Given the description of an element on the screen output the (x, y) to click on. 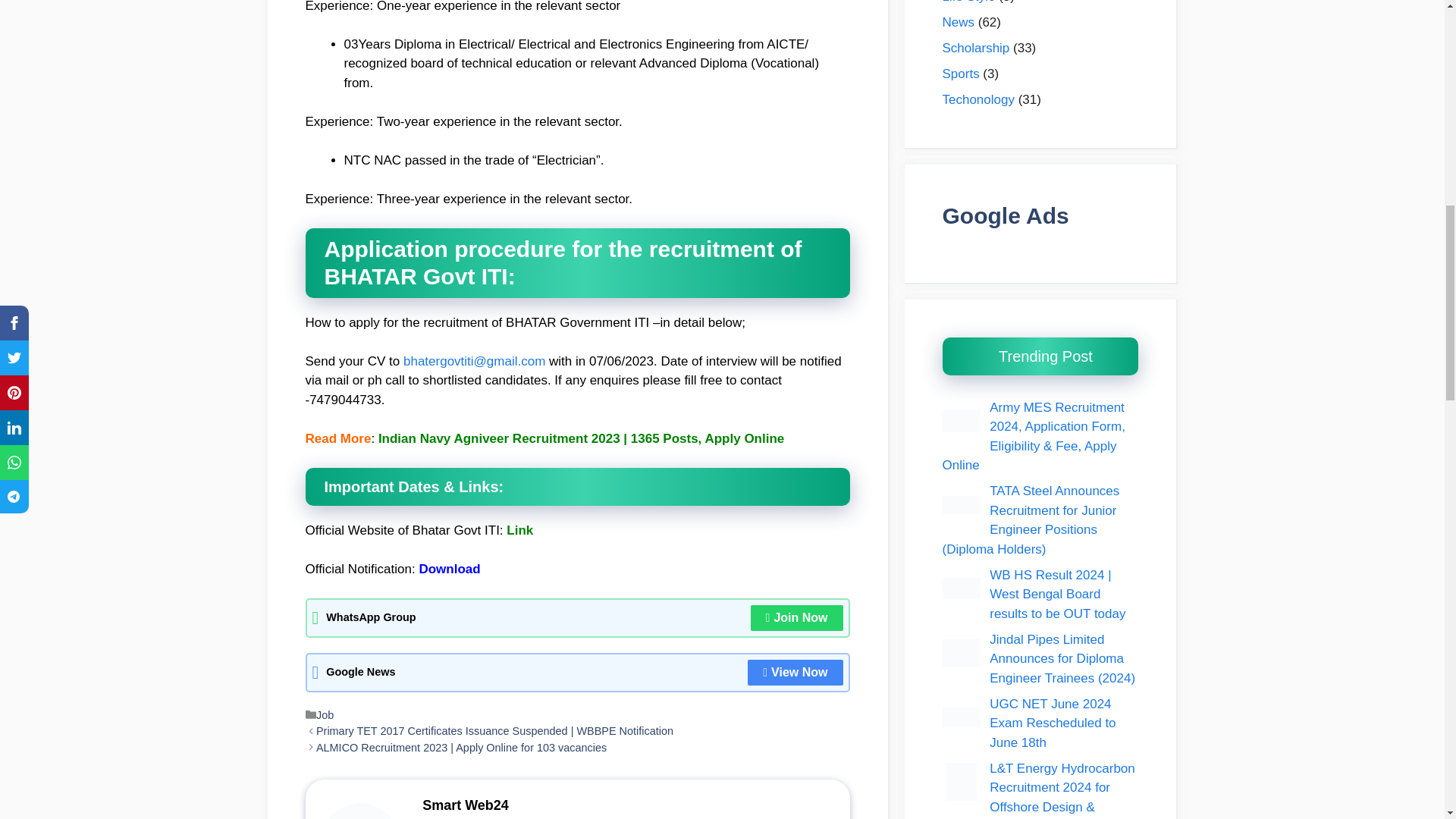
Download (449, 568)
Scroll back to top (1406, 720)
Link (519, 530)
View Now (795, 672)
Join Now (797, 617)
Job (324, 715)
